Given the description of an element on the screen output the (x, y) to click on. 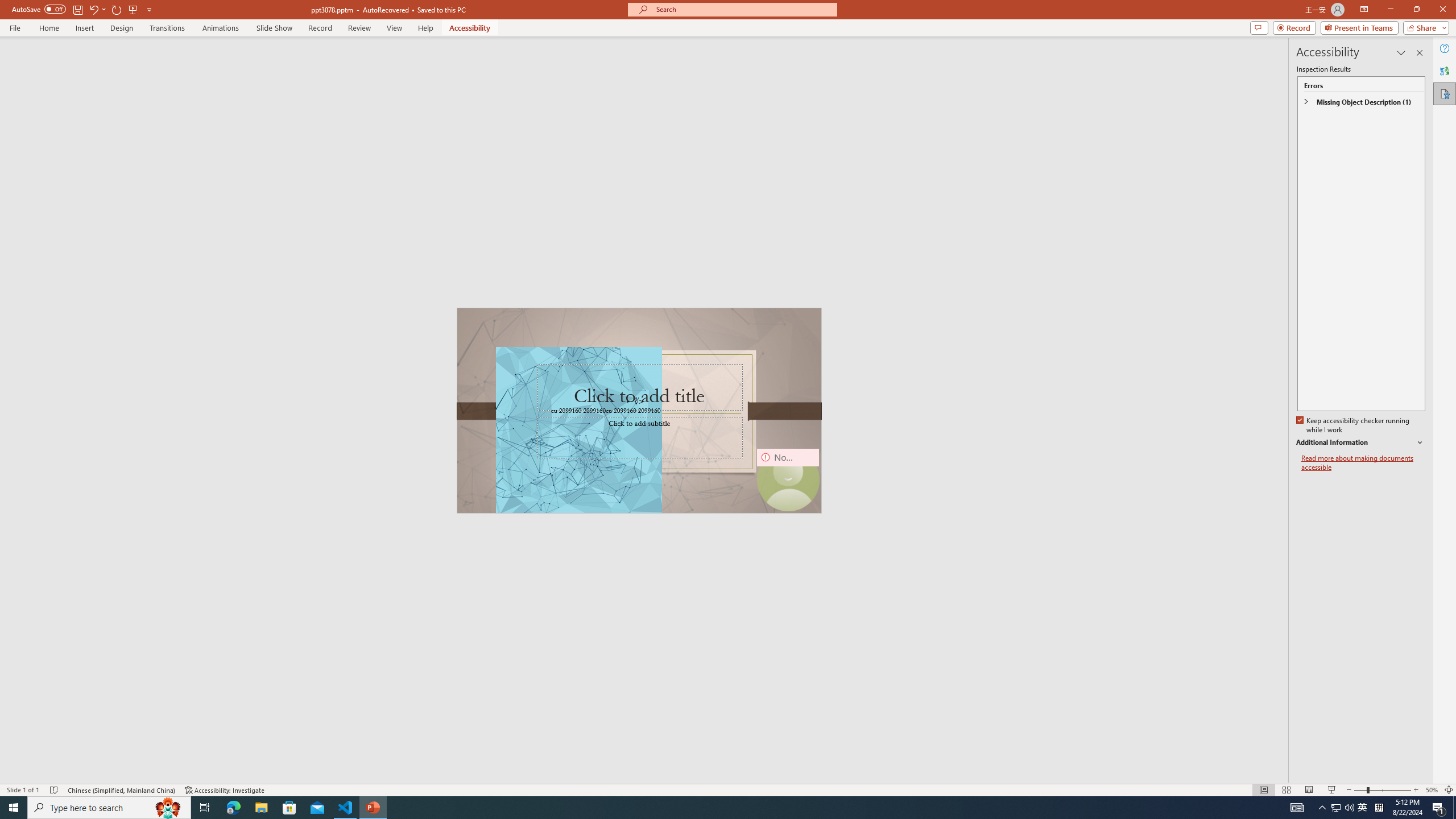
Close pane (1419, 52)
Insert (83, 28)
An abstract genetic concept (639, 409)
More Options (103, 9)
Task Pane Options (1400, 52)
Help (1444, 47)
Keep accessibility checker running while I work (1353, 425)
Zoom (1382, 790)
Present in Teams (1359, 27)
Zoom 50% (1431, 790)
TextBox 7 (635, 401)
Spell Check No Errors (54, 790)
